Given the description of an element on the screen output the (x, y) to click on. 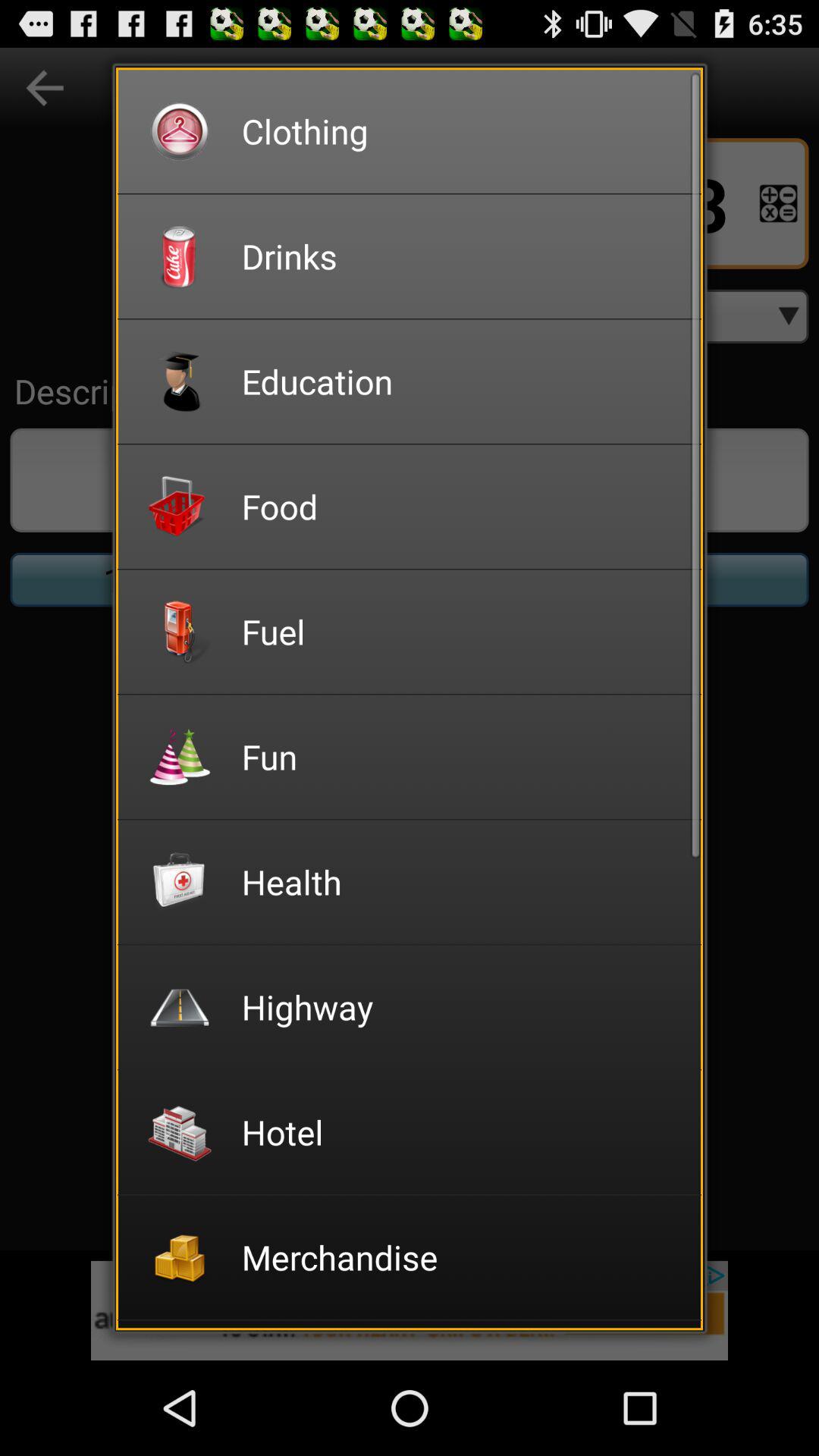
press the fun item (461, 756)
